Given the description of an element on the screen output the (x, y) to click on. 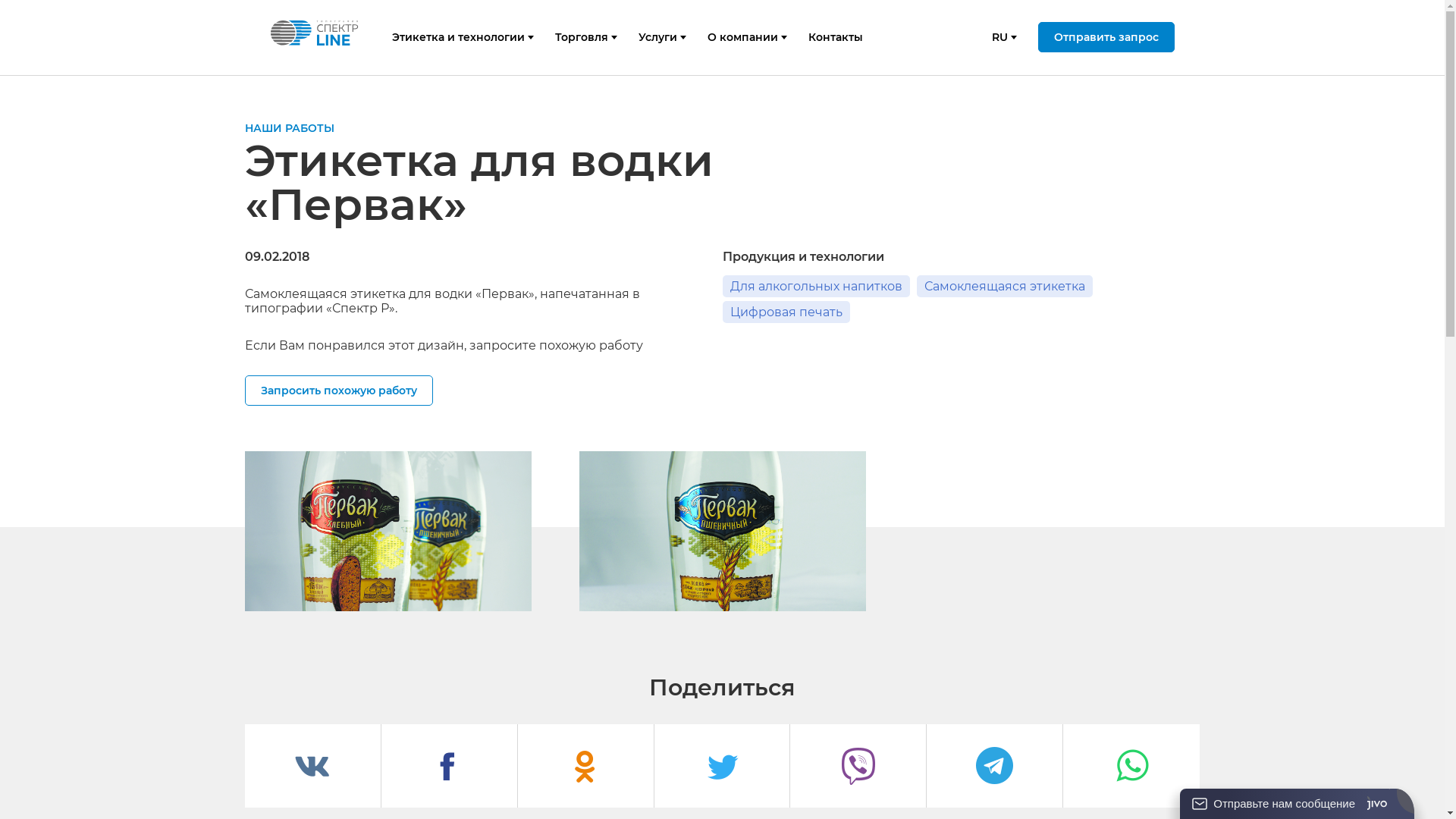
RU Element type: text (999, 37)
